Given the description of an element on the screen output the (x, y) to click on. 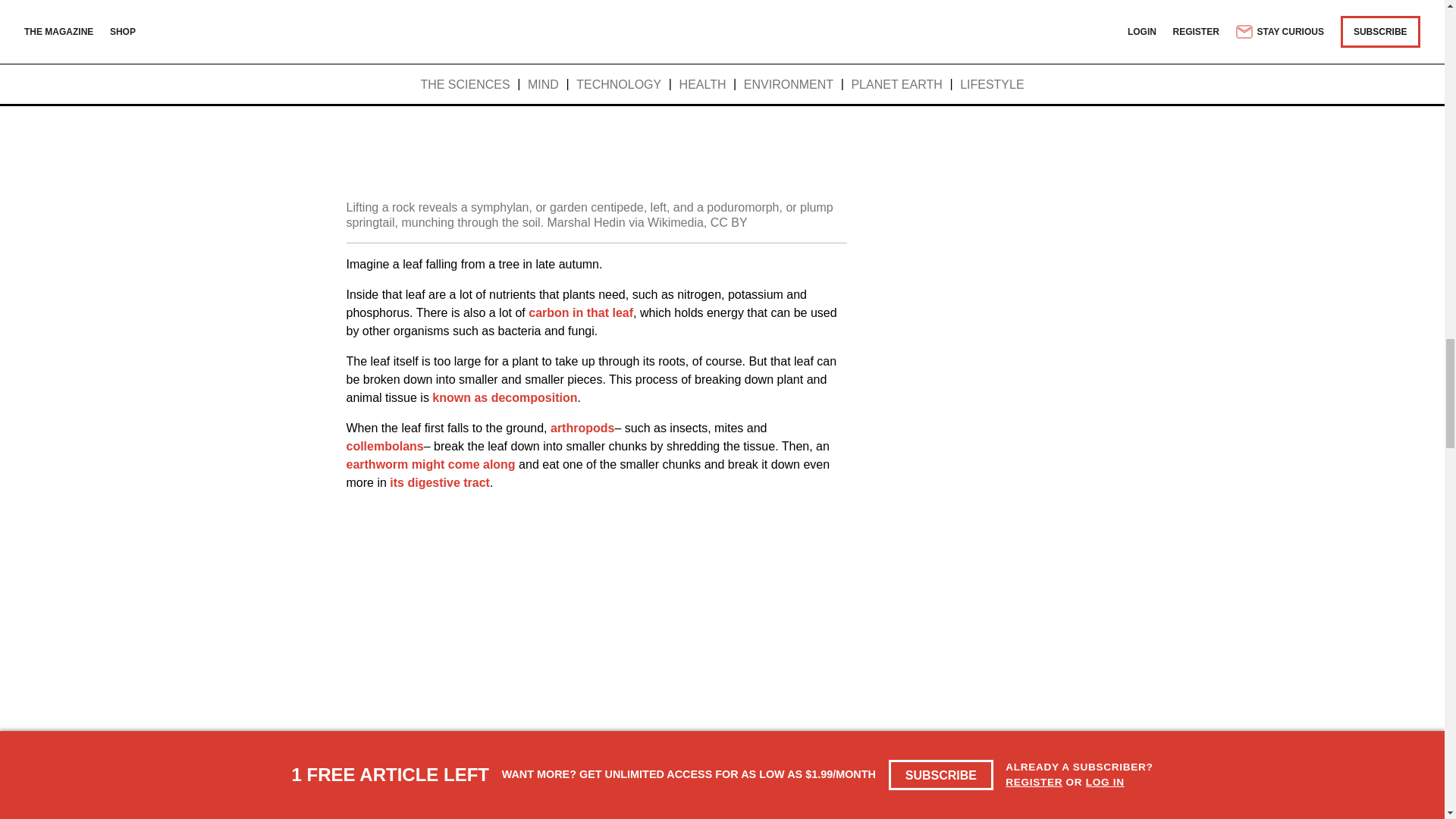
collembolans (384, 445)
arthropods (582, 427)
carbon in that leaf (580, 312)
known as decomposition (504, 397)
